Given the description of an element on the screen output the (x, y) to click on. 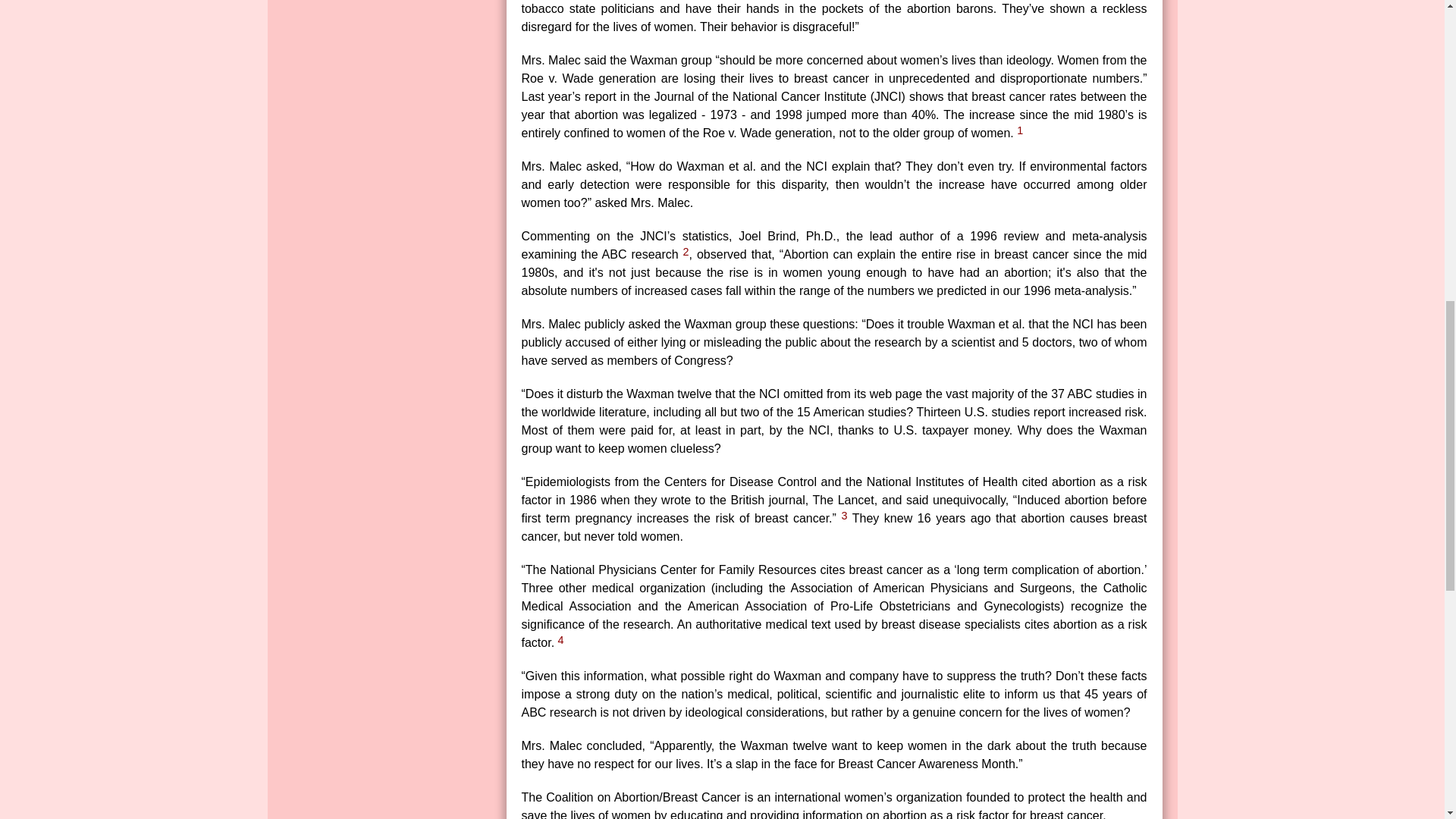
3 (844, 515)
2 (685, 251)
1 (1019, 130)
4 (560, 639)
